Given the description of an element on the screen output the (x, y) to click on. 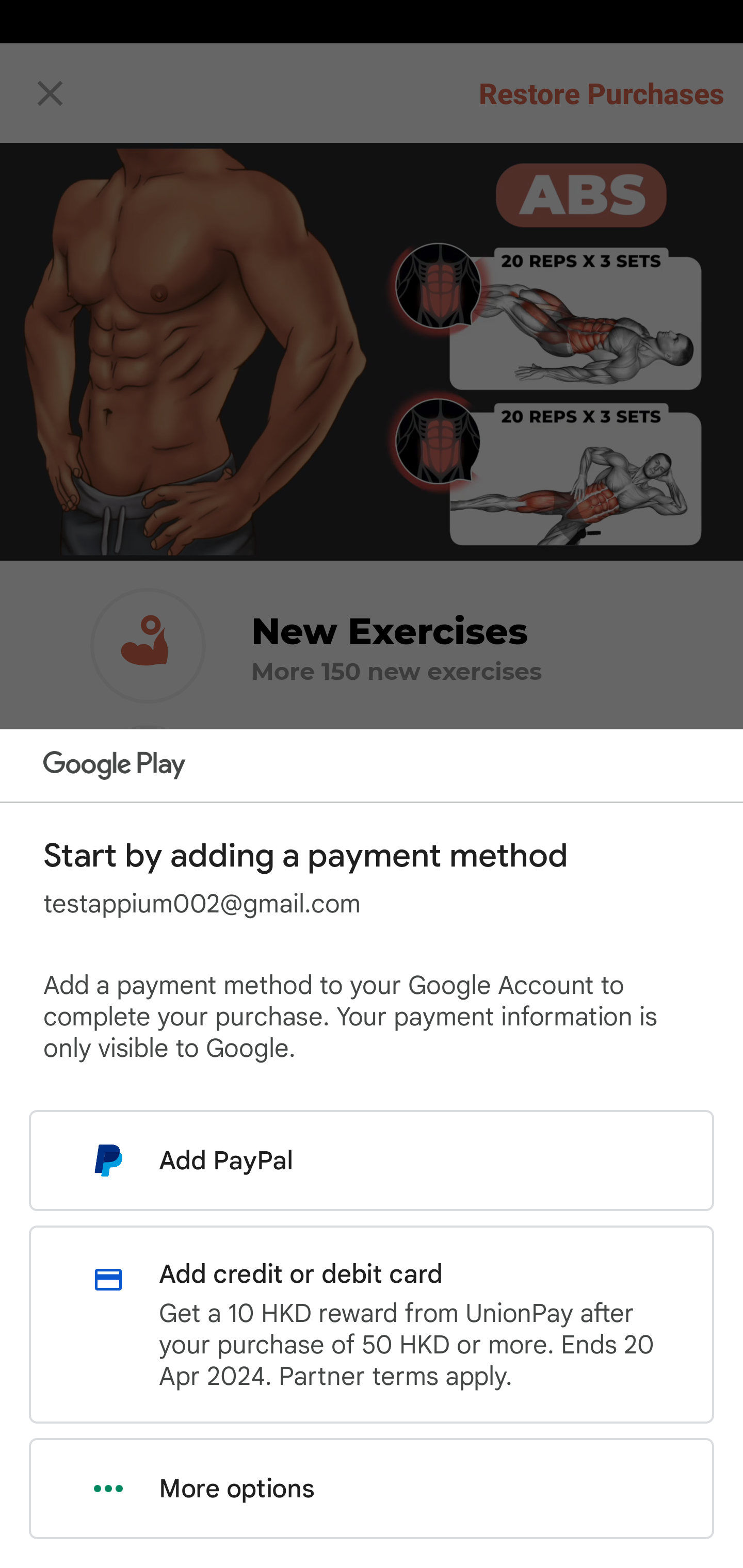
Add PayPal (371, 1160)
More options (371, 1488)
